Given the description of an element on the screen output the (x, y) to click on. 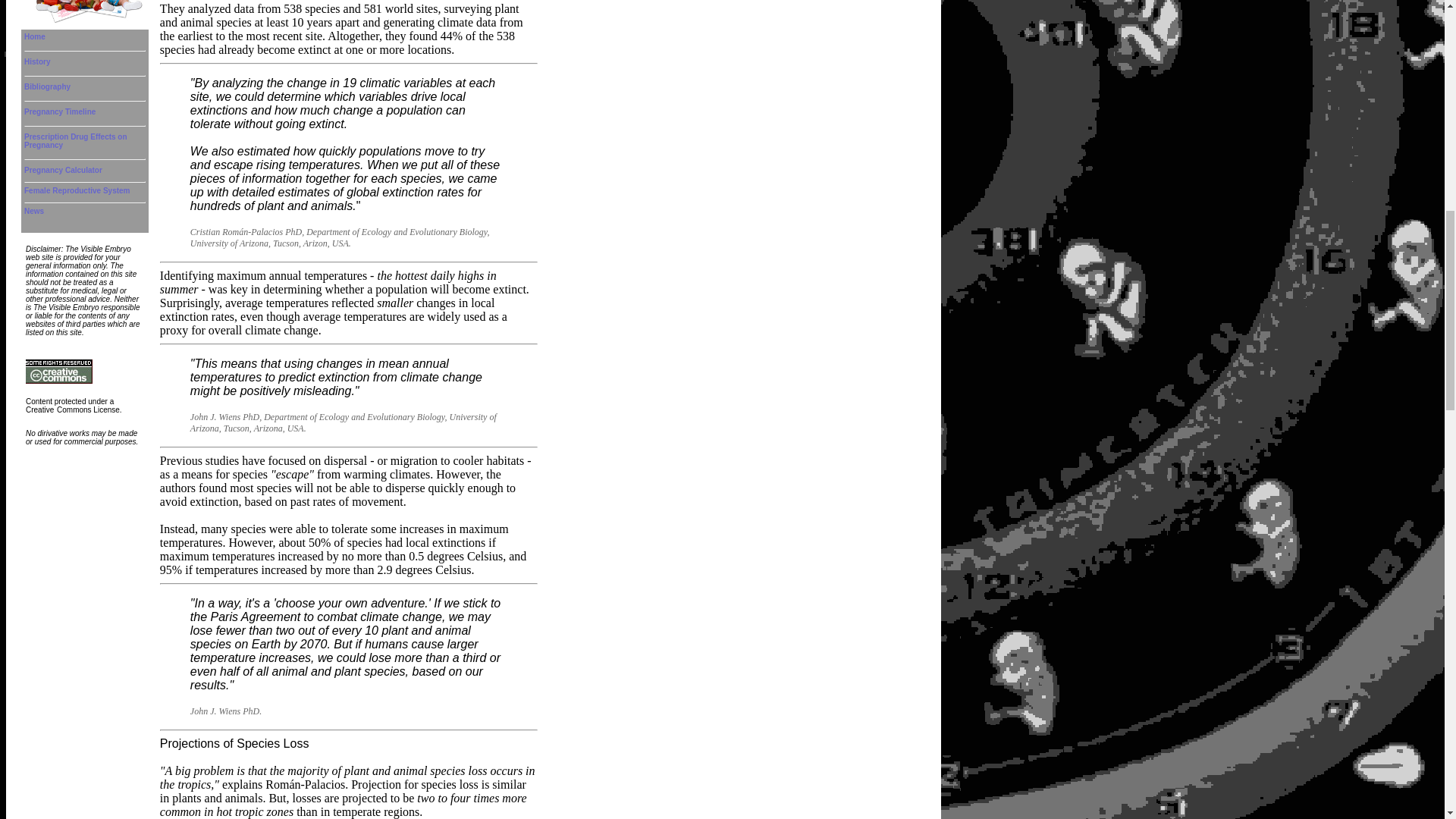
Pregnancy Timeline of Maternal Changes (60, 111)
Navigate through Fetal Development (34, 36)
History (36, 61)
Bibliography (46, 86)
Prescription Drug Effects on Fetal Development (76, 140)
The Maternal Timeline (36, 61)
News (33, 211)
Prescription Drug Effects on Pregnancy (76, 140)
Female Reproductive System (77, 190)
Calculate Pregnancy Due Date (62, 170)
Pregnancy Timeline (60, 111)
New Studies in Development (33, 211)
Home (34, 36)
Female Reproductive System Chart (77, 190)
Pregnancy Calculator (62, 170)
